Given the description of an element on the screen output the (x, y) to click on. 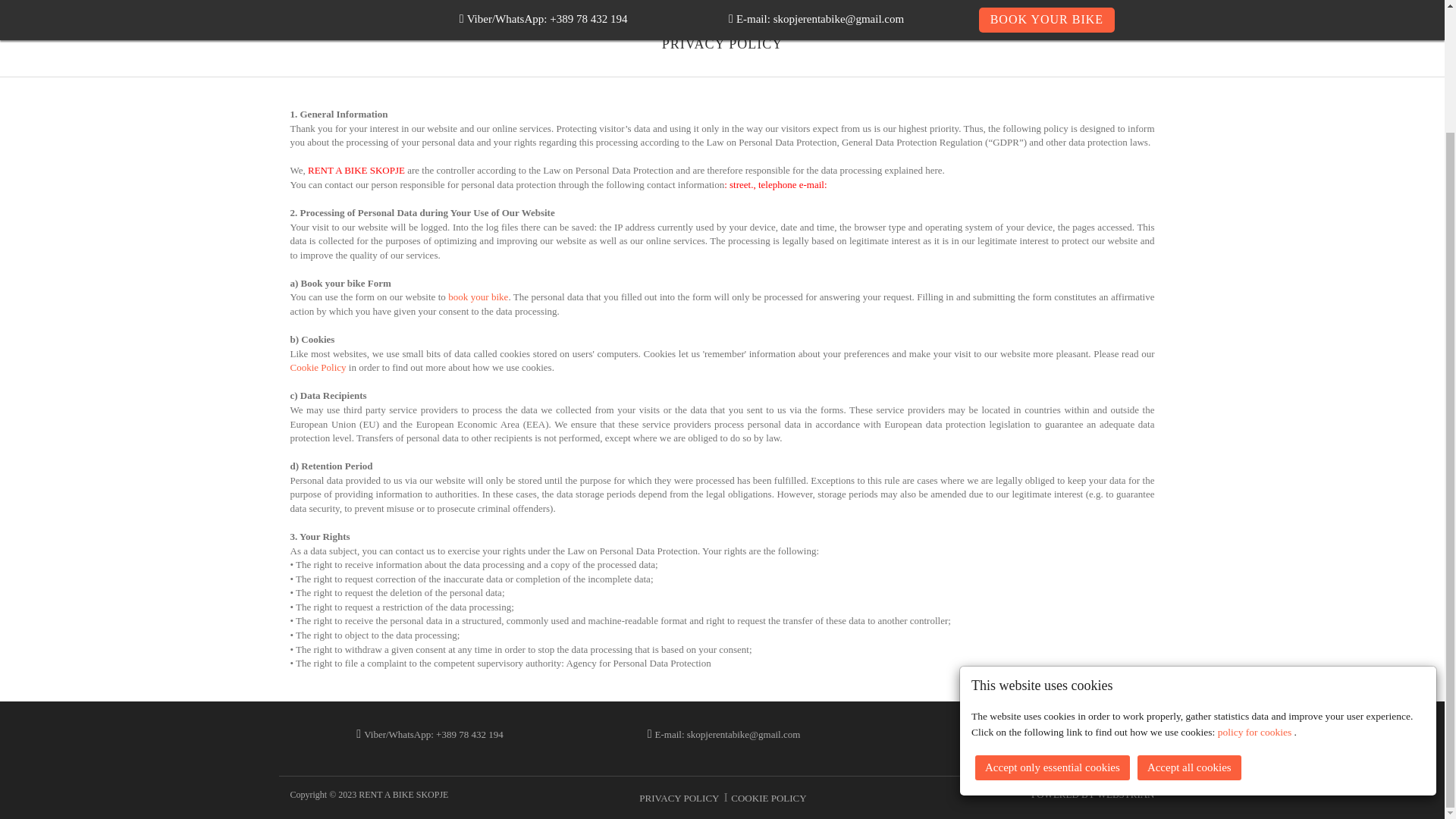
Accept only essential cookies (1052, 620)
POWERED BY WEBSTRIAN (1092, 794)
book your bike (478, 296)
Cookie Policy (317, 367)
PRIVACY POLICY (679, 797)
BOOK YOUR BIKE (1015, 734)
policy for cookies (1255, 584)
COOKIE POLICY (768, 797)
Accept all cookies (1189, 620)
